Given the description of an element on the screen output the (x, y) to click on. 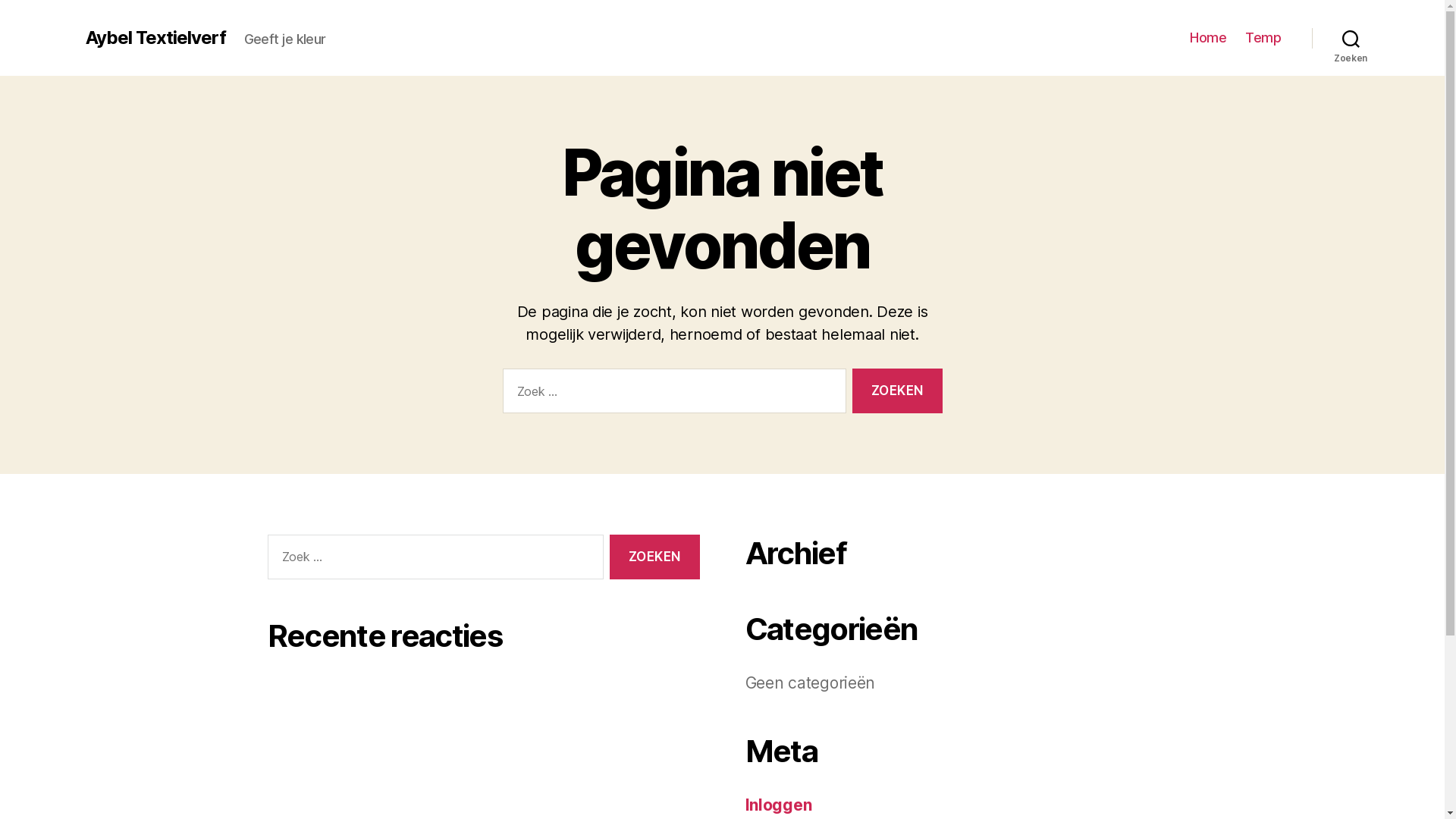
Zoeken Element type: text (896, 390)
Zoeken Element type: text (654, 556)
Aybel Textielverf Element type: text (154, 37)
Temp Element type: text (1262, 37)
Inloggen Element type: text (777, 804)
Zoeken Element type: text (1350, 37)
Home Element type: text (1207, 37)
